Given the description of an element on the screen output the (x, y) to click on. 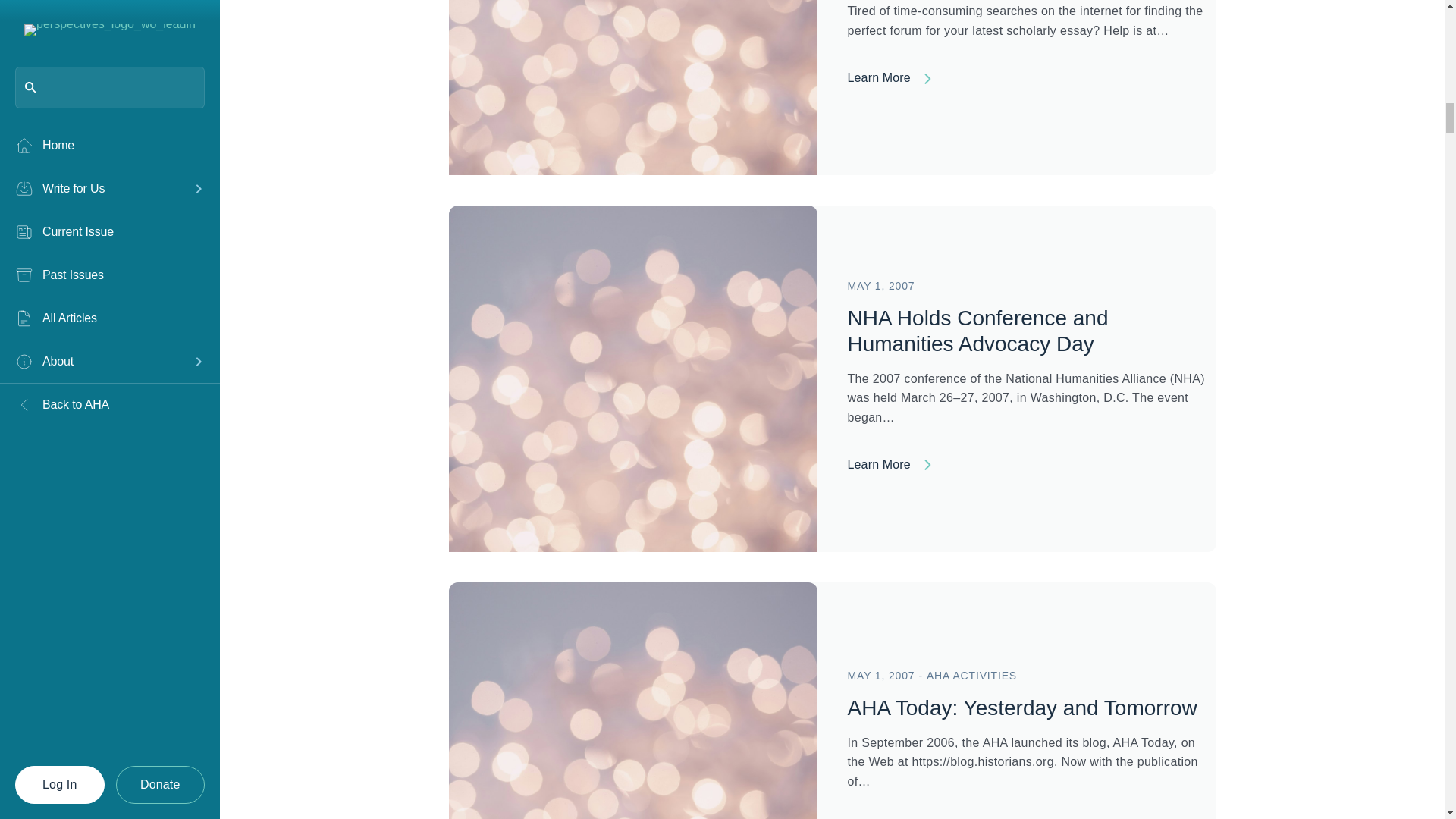
AHA Launches Online Directory of History Journals (632, 3)
NHA Holds Conference and Humanities Advocacy Day (1031, 467)
NHA Holds Conference and Humanities Advocacy Day (977, 330)
AHA Today: Yesterday and Tomorrow (1021, 707)
AHA Launches Online Directory of History Journals (1031, 81)
NHA Holds Conference and Humanities Advocacy Day (632, 377)
AHA Today: Yesterday and Tomorrow (632, 754)
